Given the description of an element on the screen output the (x, y) to click on. 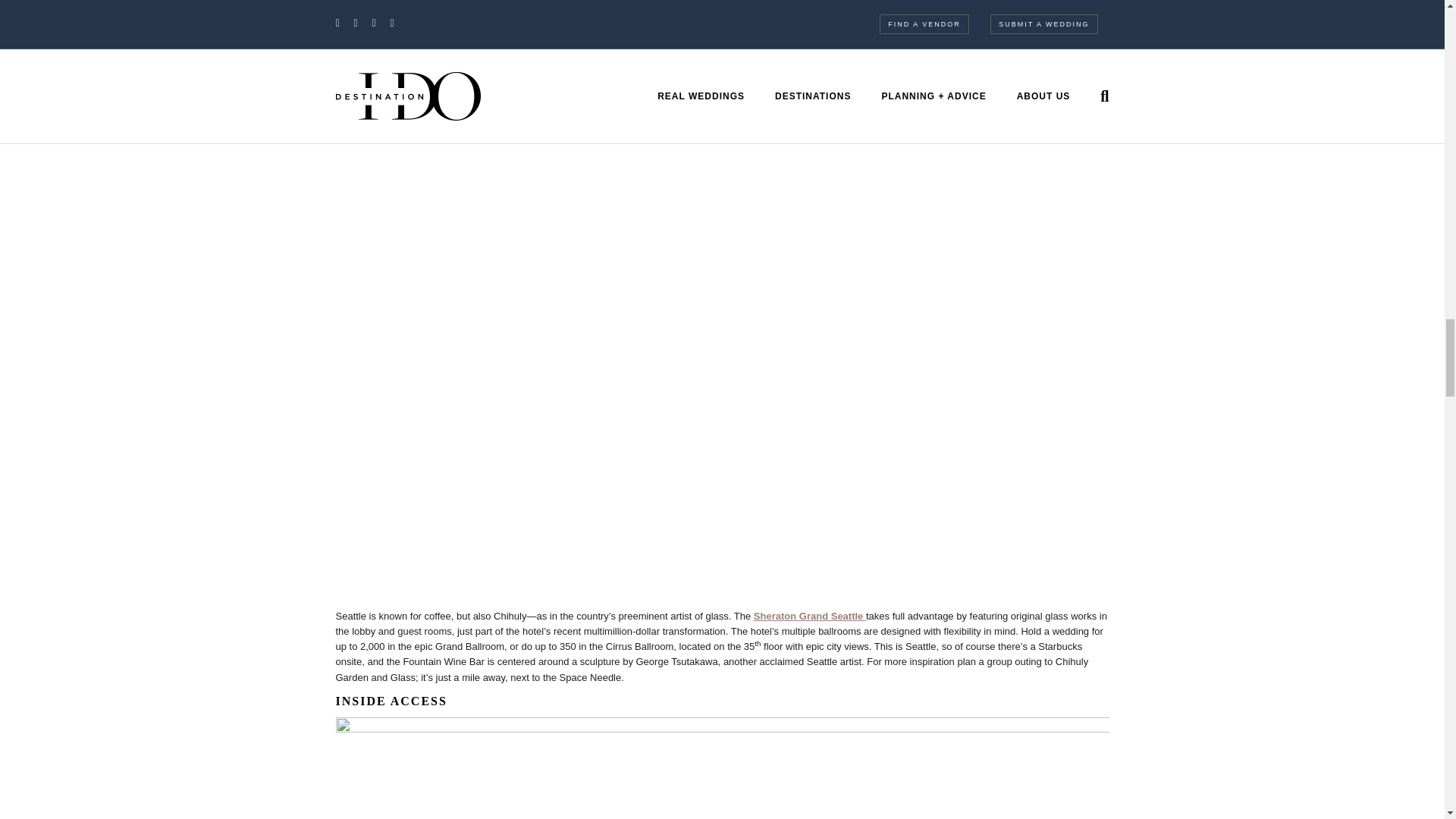
Sheraton Grand Seattle (810, 615)
